Given the description of an element on the screen output the (x, y) to click on. 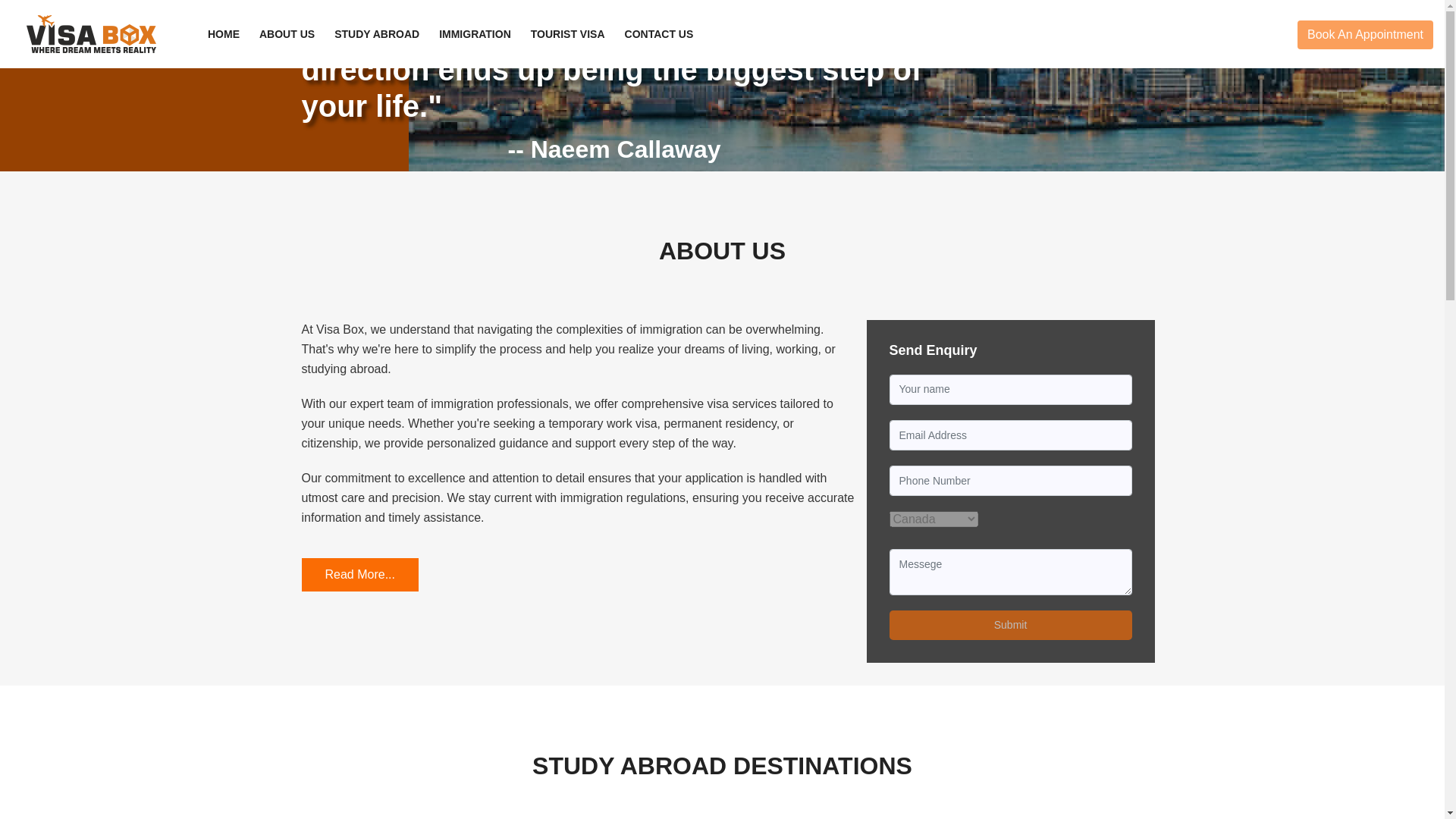
ABOUT US (286, 34)
IMMIGRATION (474, 34)
CONTACT US (659, 34)
Read More... (360, 574)
Book An Appointment (1364, 34)
Submit (1010, 624)
TOURIST VISA (567, 34)
HOME (224, 34)
STUDY ABROAD (377, 34)
